Given the description of an element on the screen output the (x, y) to click on. 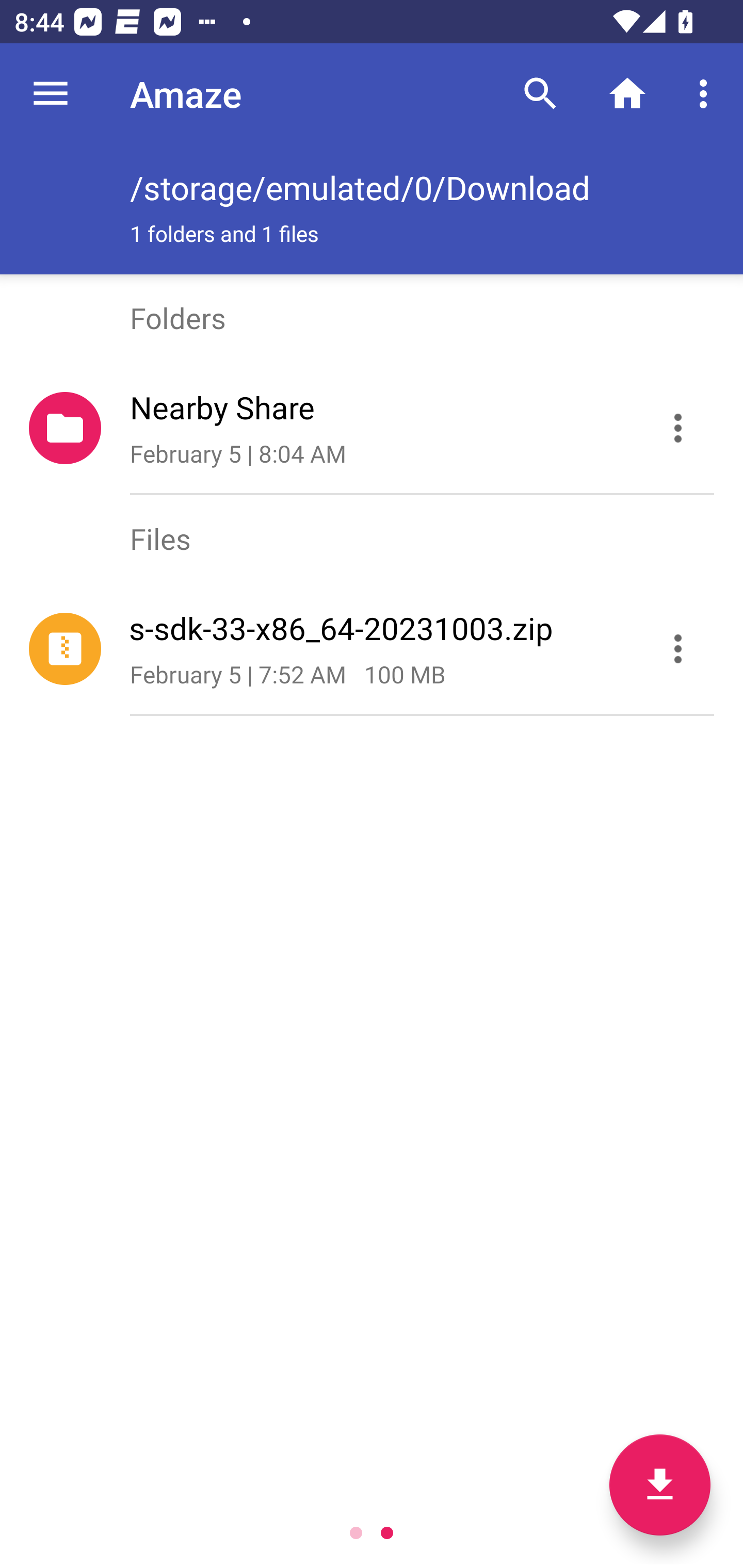
Navigate up (50, 93)
Search (540, 93)
Home (626, 93)
More options (706, 93)
Nearby Share February 5 | 8:04 AM (371, 427)
